Given the description of an element on the screen output the (x, y) to click on. 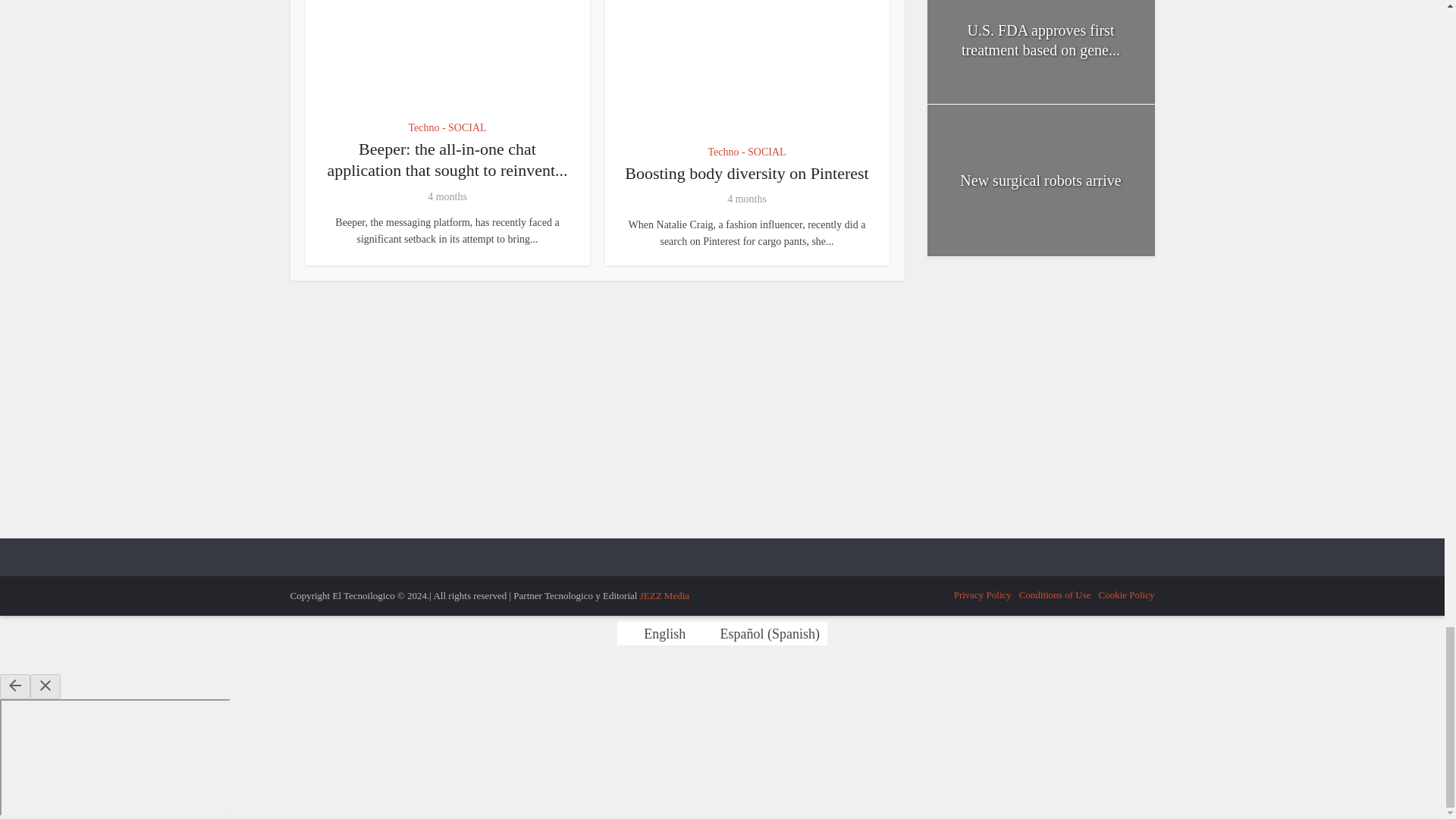
Techno - SOCIAL (446, 127)
Techno - SOCIAL (746, 152)
Boosting body diversity on Pinterest (745, 172)
